Given the description of an element on the screen output the (x, y) to click on. 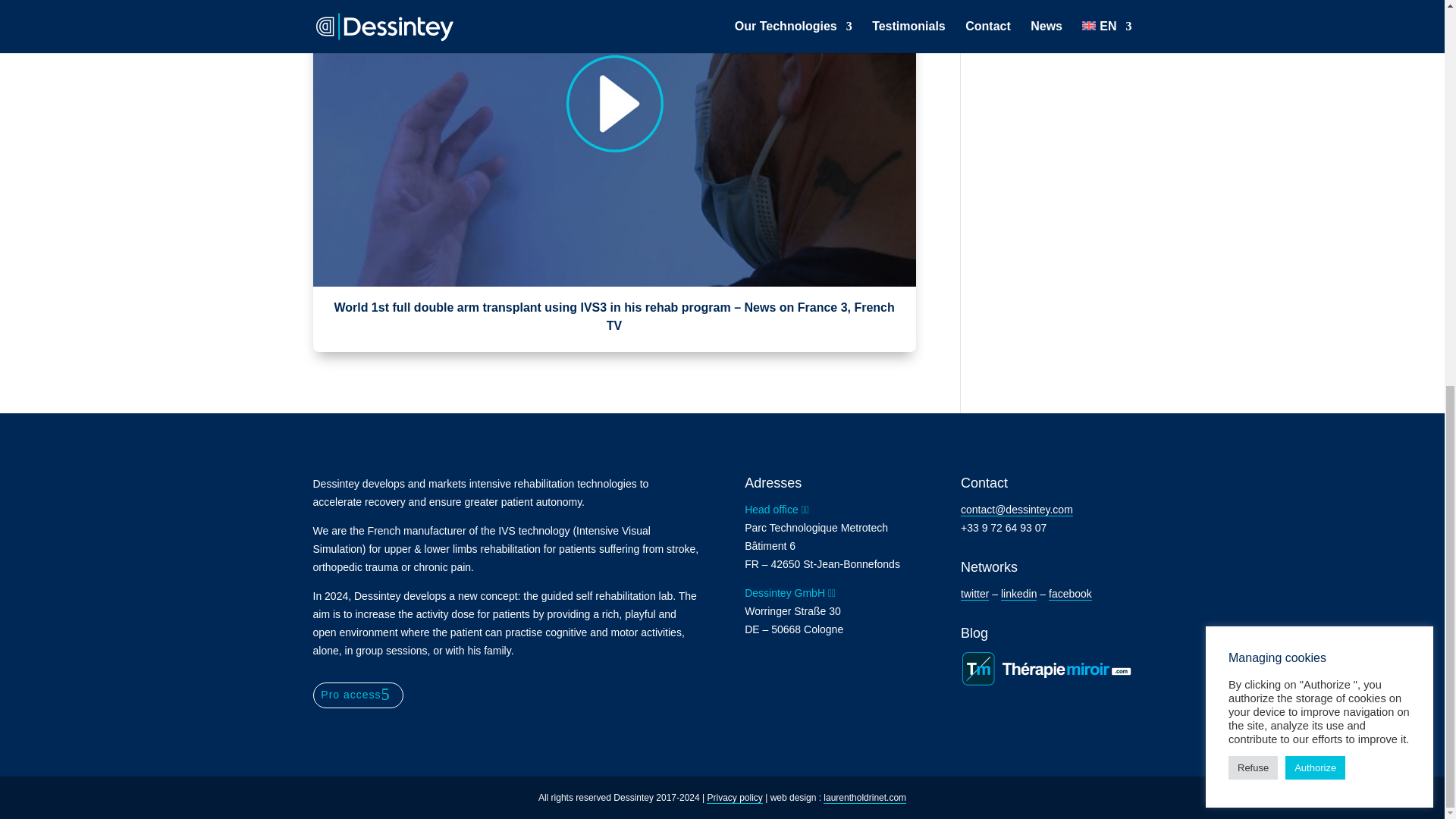
Privacy policy (733, 797)
Refuse (1253, 41)
twitter (974, 594)
laurentholdrinet.com (864, 797)
Authorize (1315, 41)
Pro access (358, 695)
linkedin (1018, 594)
facebook (1070, 594)
